Given the description of an element on the screen output the (x, y) to click on. 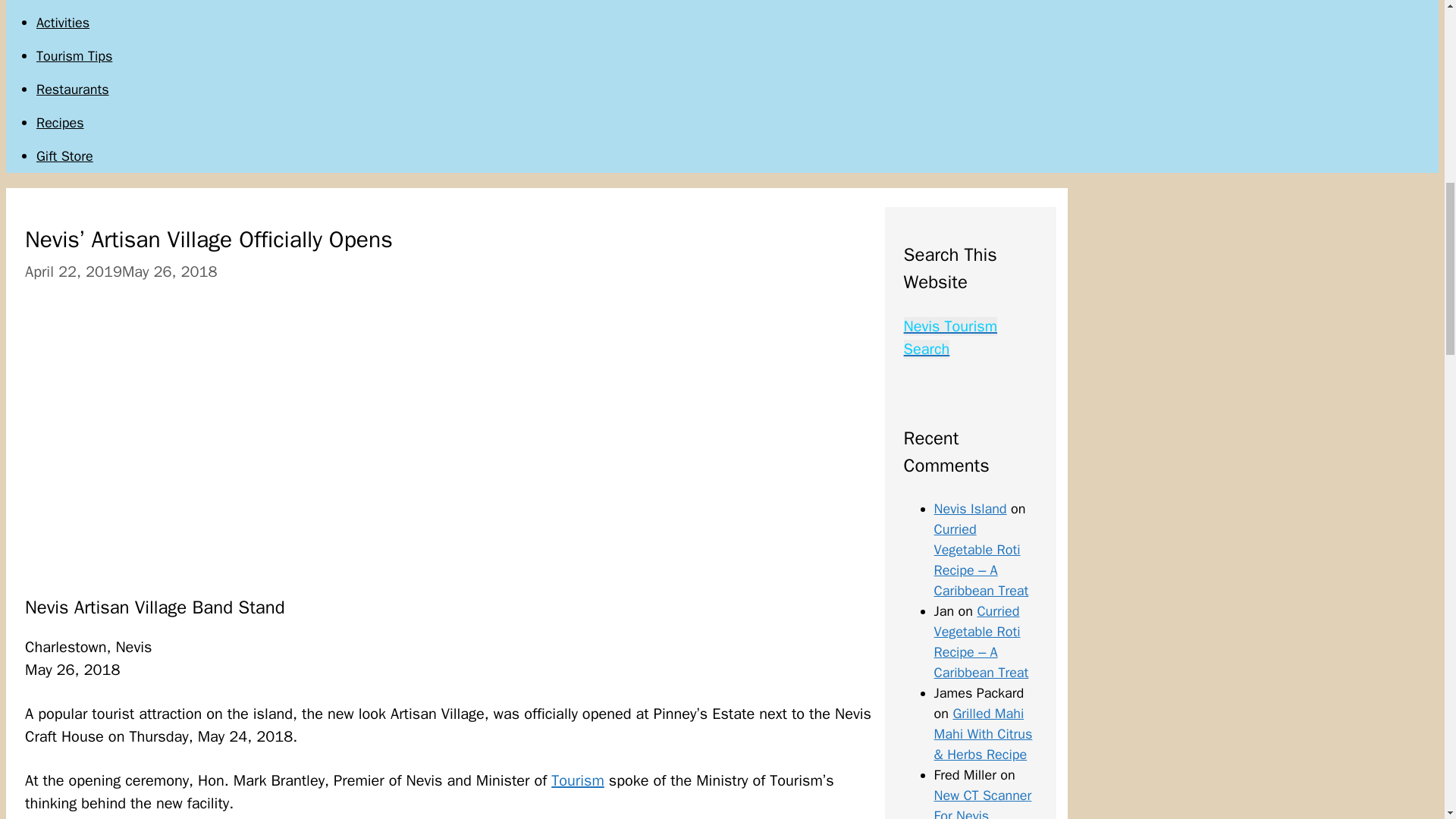
Tourism Tips (74, 55)
Restaurants (72, 89)
Tourism (577, 780)
Recipes (60, 122)
Activities (62, 22)
Gift Store (64, 156)
Nevis Tourism Search (950, 337)
Nevis Activities and Events Calendar (62, 22)
Nevis Island (970, 508)
